Given the description of an element on the screen output the (x, y) to click on. 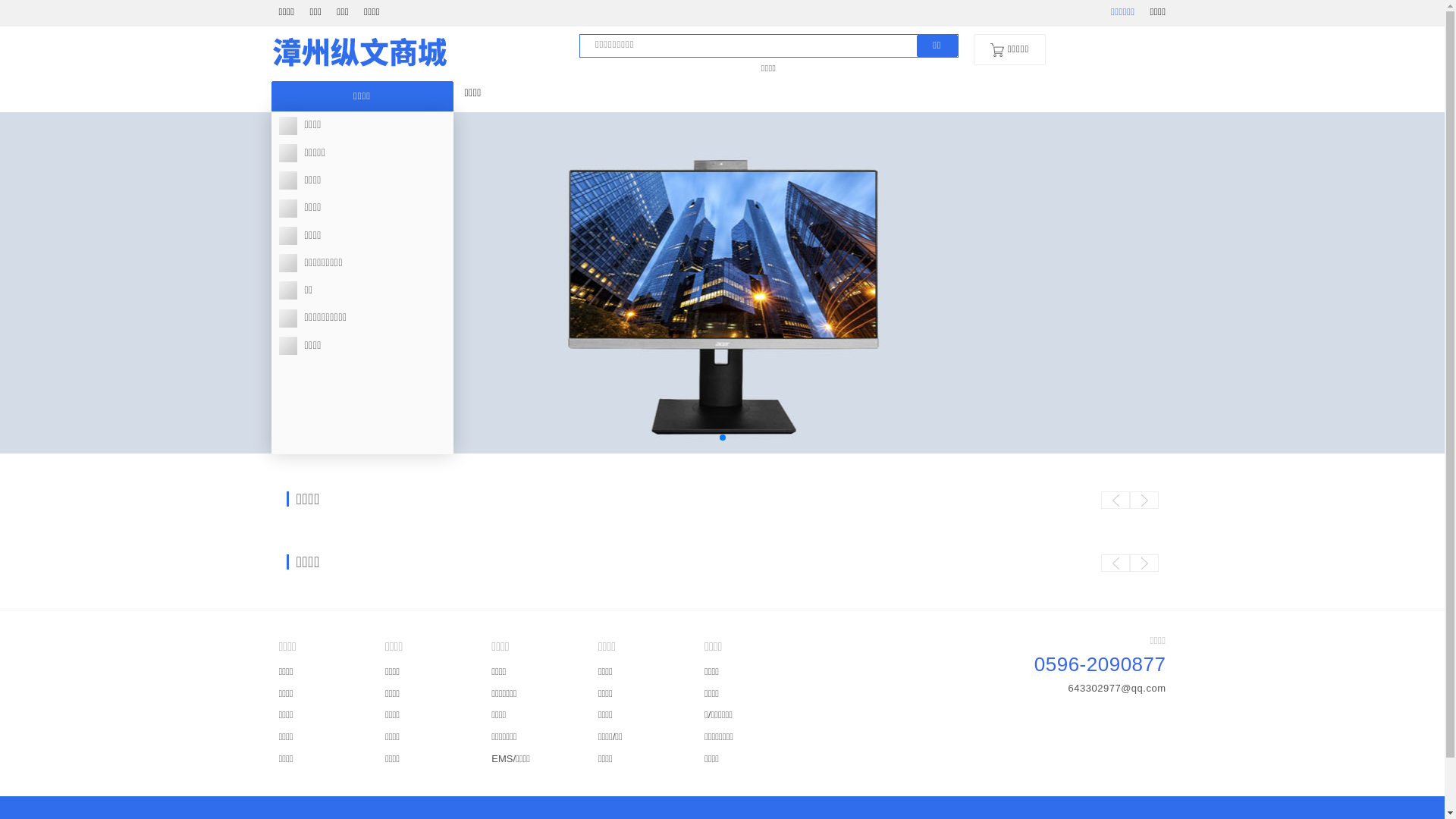
643302977@qq.com Element type: text (1117, 687)
